Given the description of an element on the screen output the (x, y) to click on. 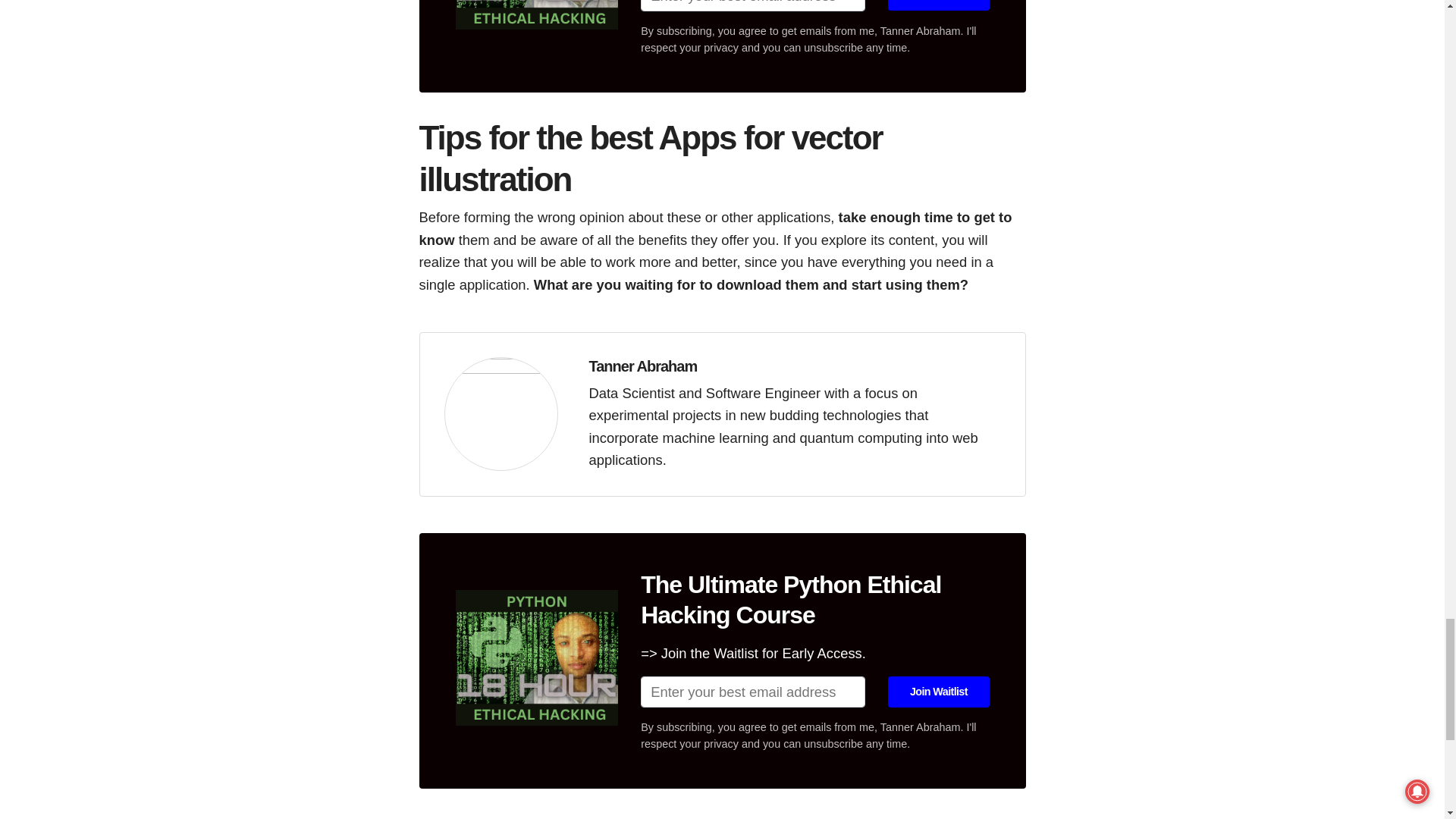
Join Waitlist (938, 5)
Join Waitlist (938, 691)
